Given the description of an element on the screen output the (x, y) to click on. 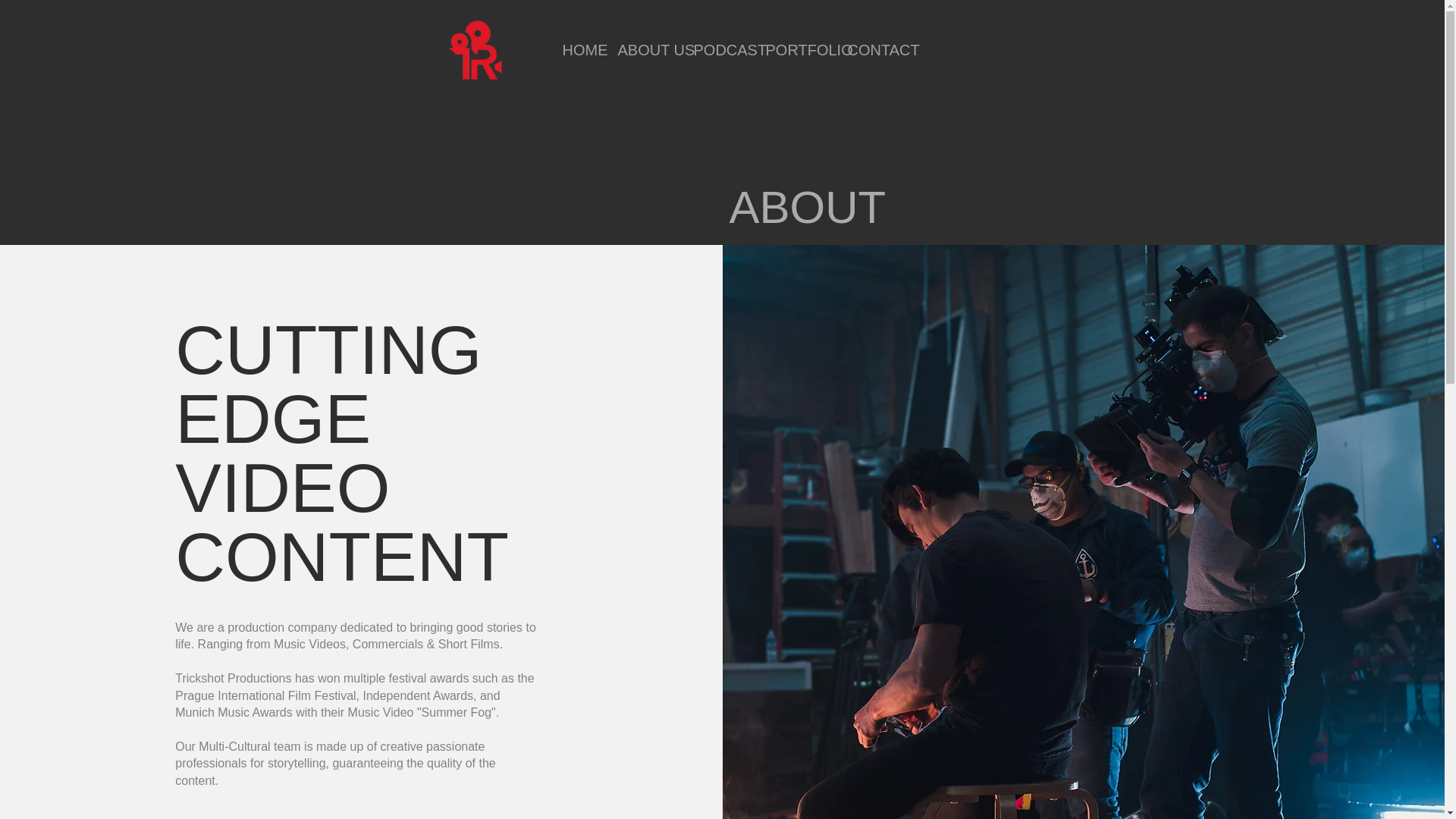
HOME (577, 50)
ABOUT US (644, 50)
PODCAST (718, 50)
CONTACT (860, 50)
PODCAST (705, 50)
ABOUT US (631, 50)
TS-red-logo.png (475, 49)
HOME (567, 50)
CONTACT (871, 50)
